Given the description of an element on the screen output the (x, y) to click on. 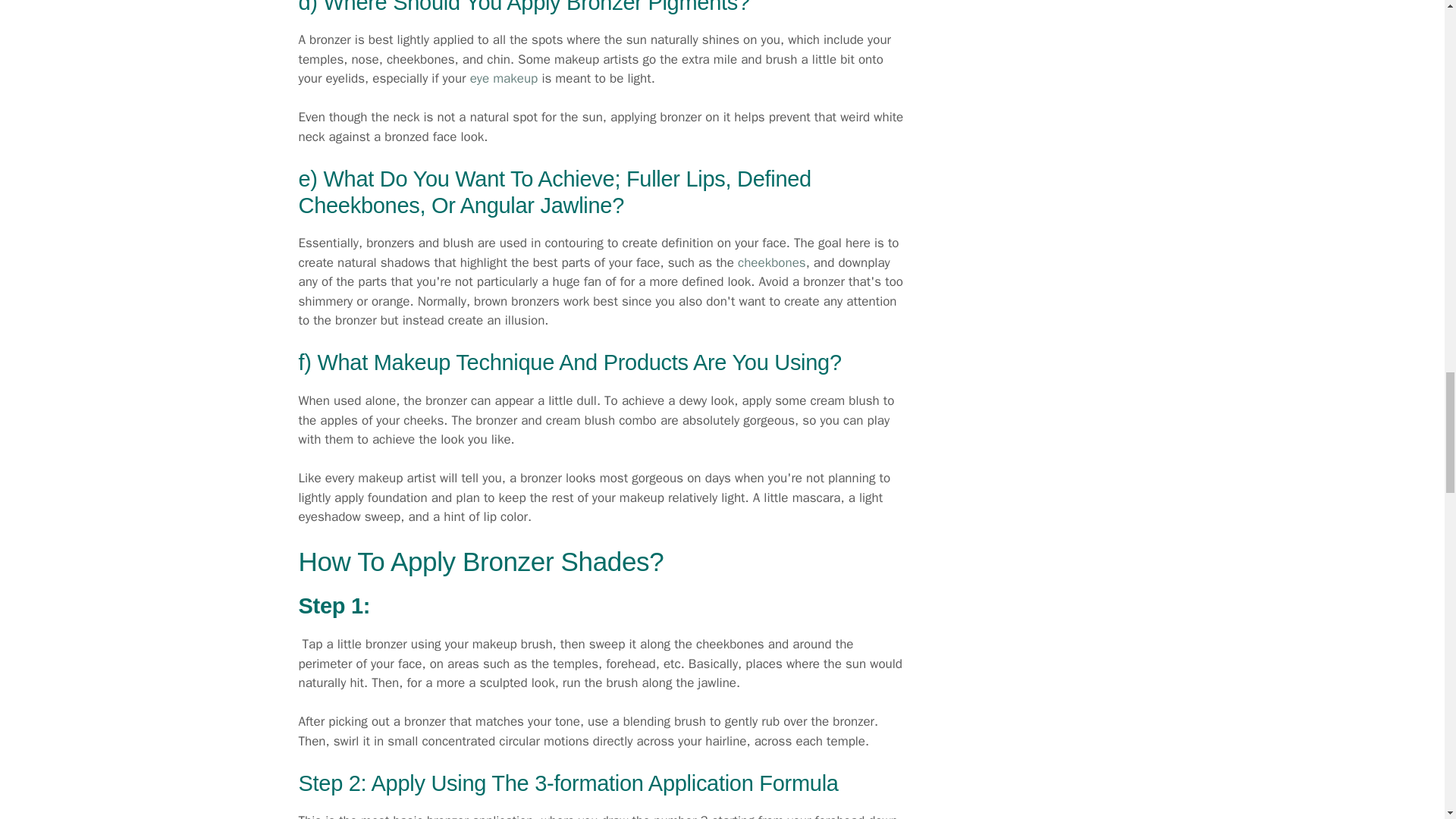
cheekbones (772, 262)
eye makeup (504, 78)
